Given the description of an element on the screen output the (x, y) to click on. 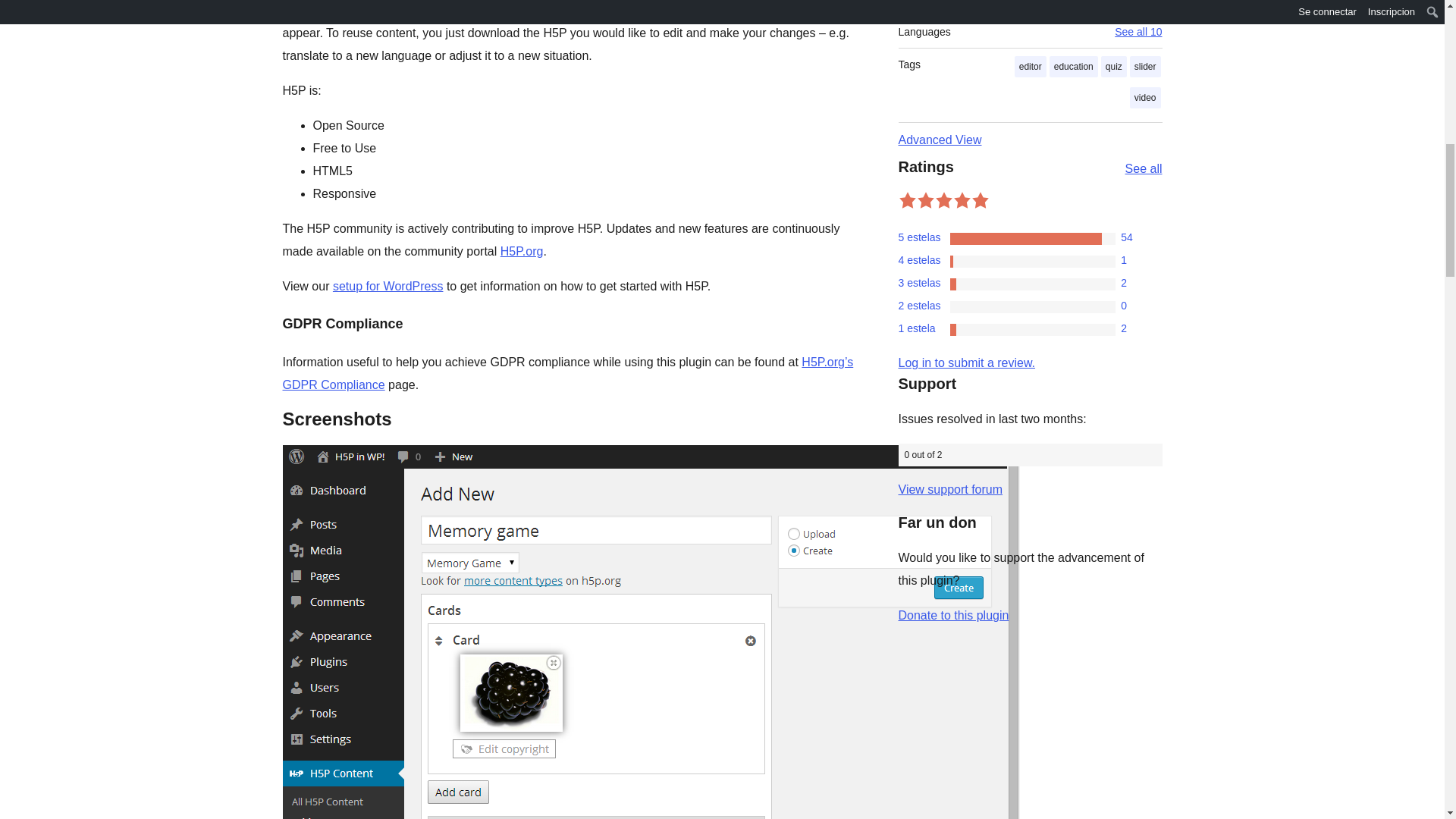
GDPR Compliance (567, 373)
H5P (521, 250)
H5P.org (521, 250)
Log in to WordPress.org (966, 362)
Setup H5P for WordPress (388, 286)
setup for WordPress (388, 286)
